Given the description of an element on the screen output the (x, y) to click on. 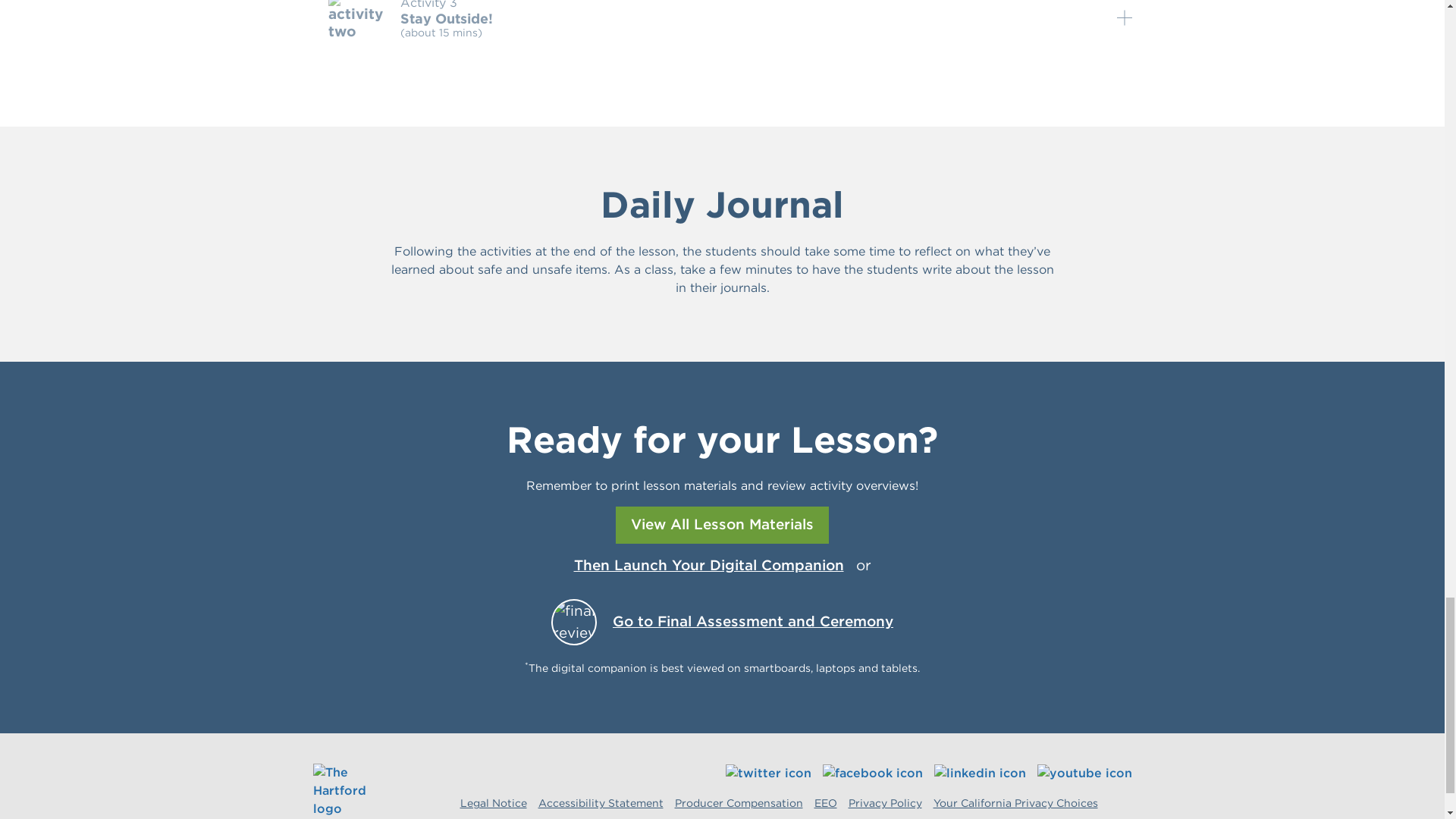
Facebook (871, 772)
Twitter (767, 772)
LinkedIn (980, 772)
YouTube (1084, 772)
Your California Privacy Choices (1032, 803)
